Given the description of an element on the screen output the (x, y) to click on. 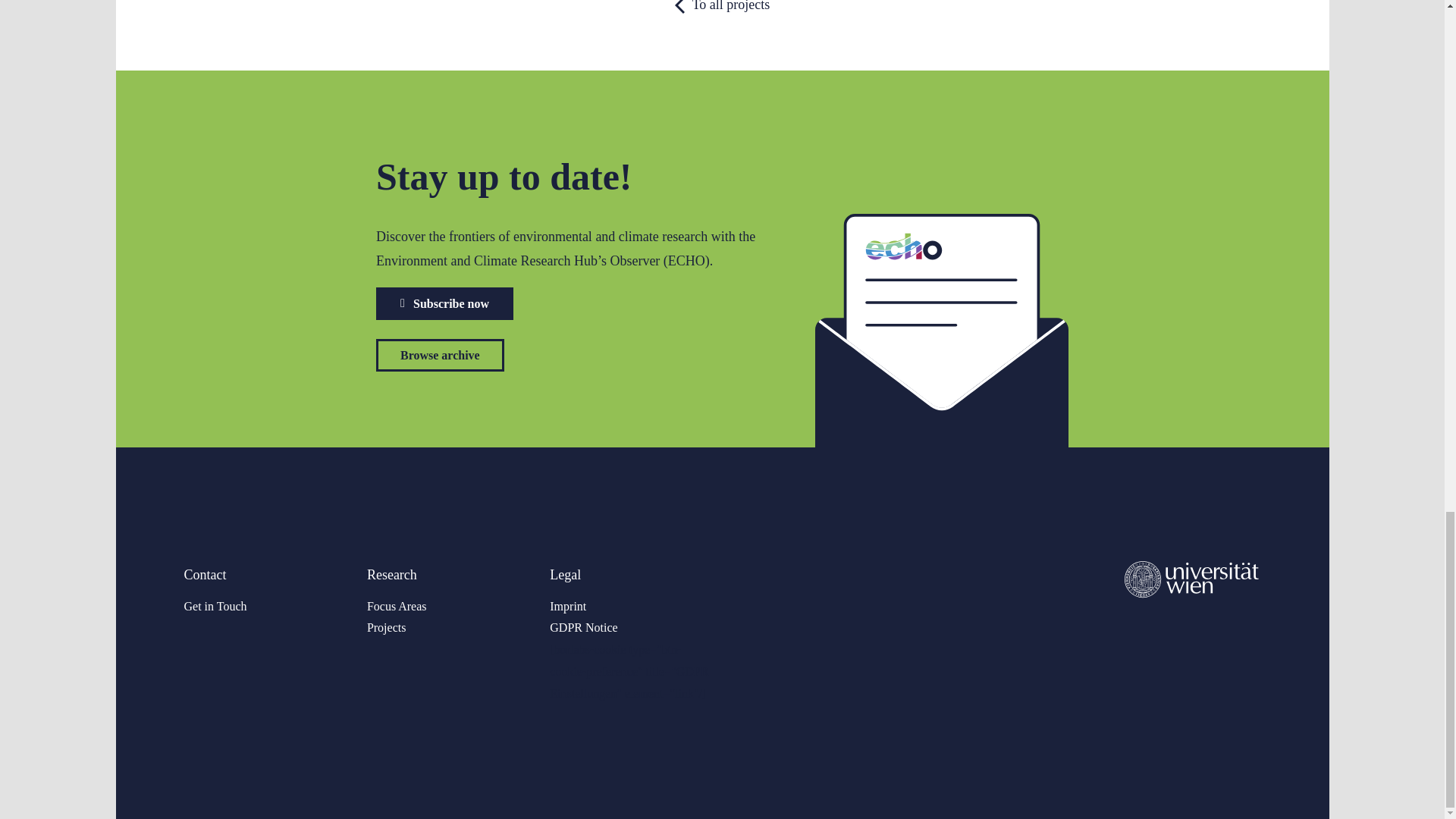
Subscribe now (444, 303)
To all projects (721, 34)
Browse archive (439, 355)
